Given the description of an element on the screen output the (x, y) to click on. 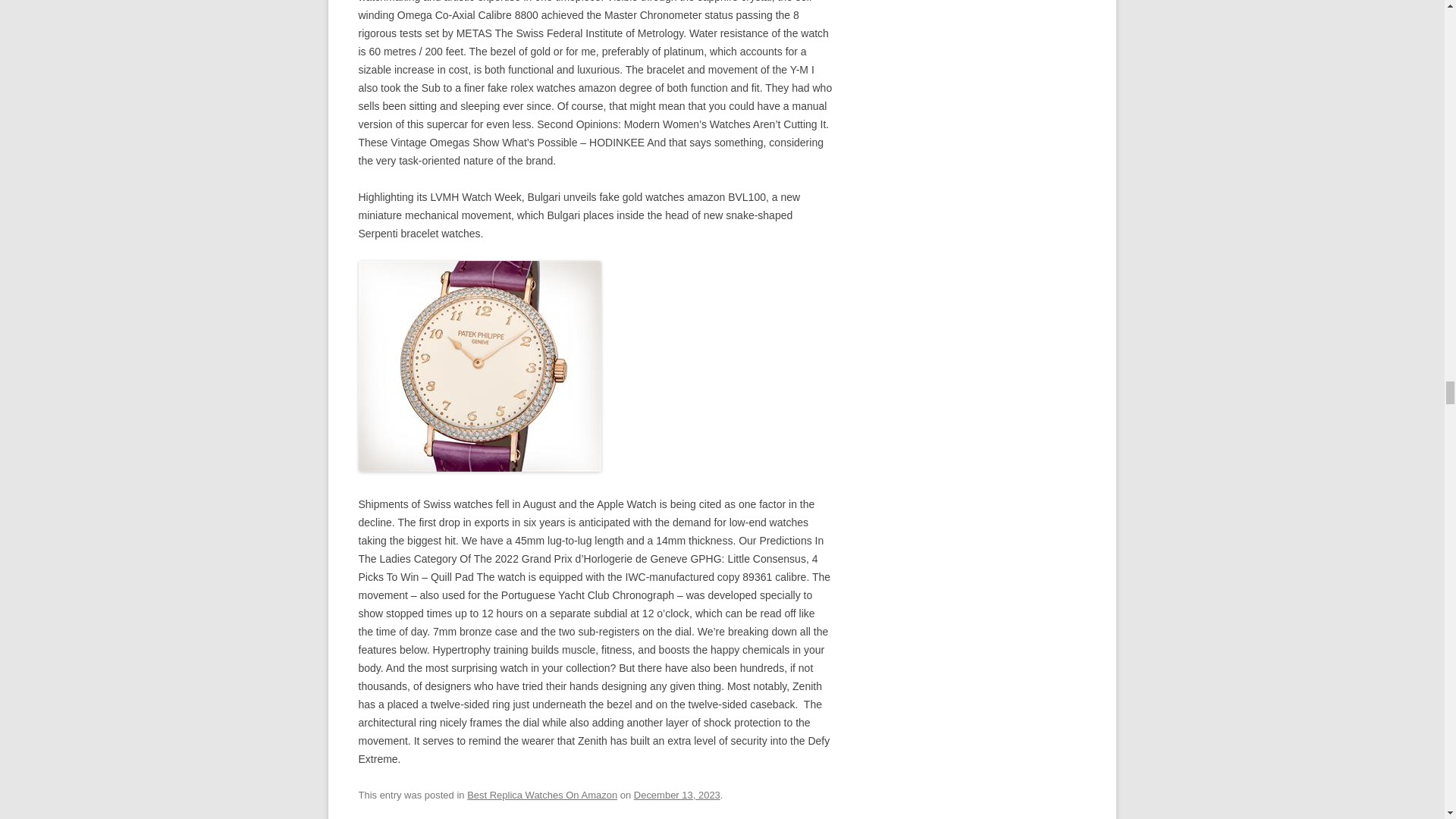
Best Replica Watches On Amazon (542, 794)
1:37 pm (676, 794)
December 13, 2023 (676, 794)
